Given the description of an element on the screen output the (x, y) to click on. 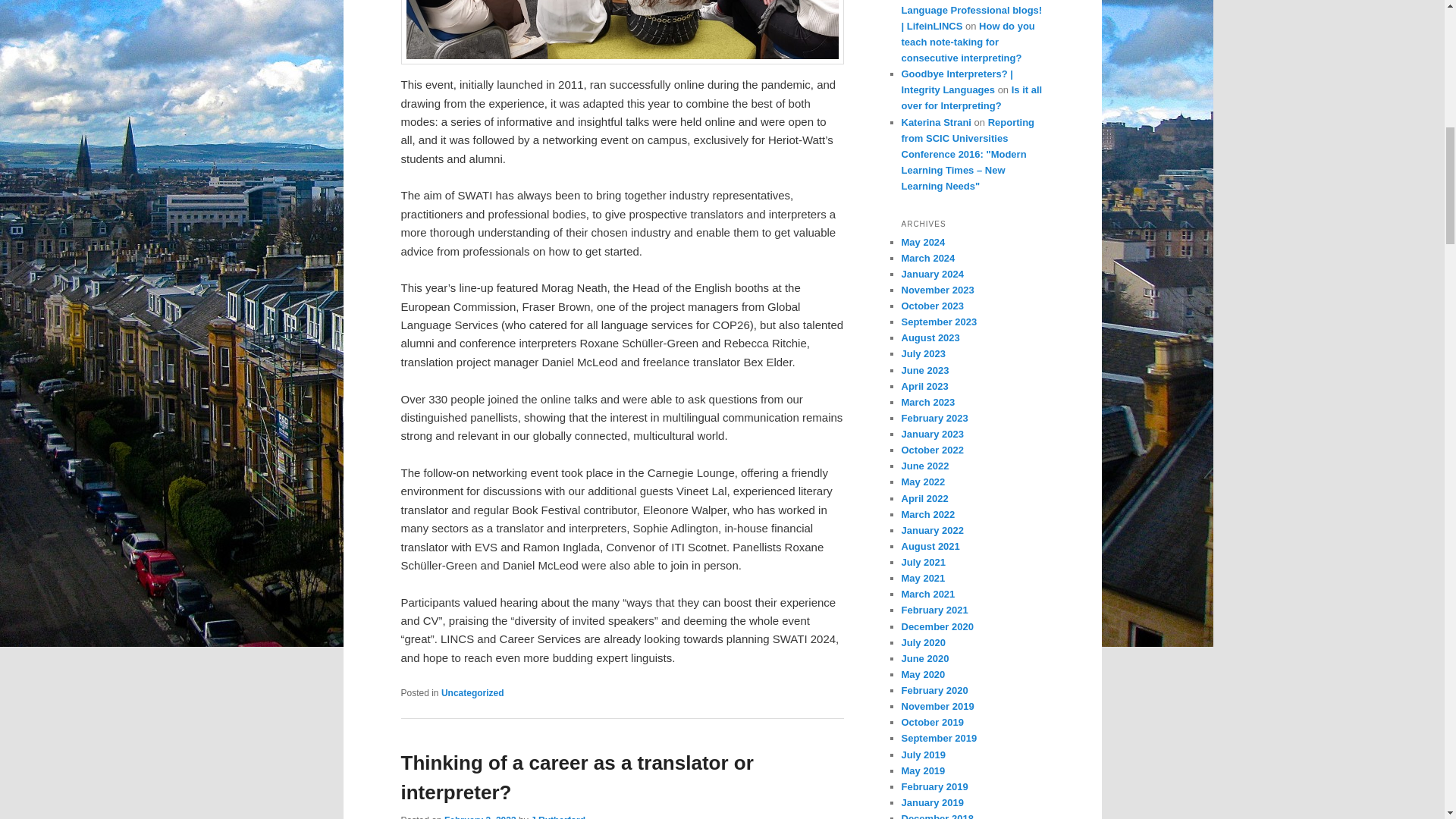
Thinking of a career as a translator or interpreter? (576, 777)
Uncategorized (472, 692)
February 3, 2023 (480, 816)
J Rutherford (558, 816)
